Given the description of an element on the screen output the (x, y) to click on. 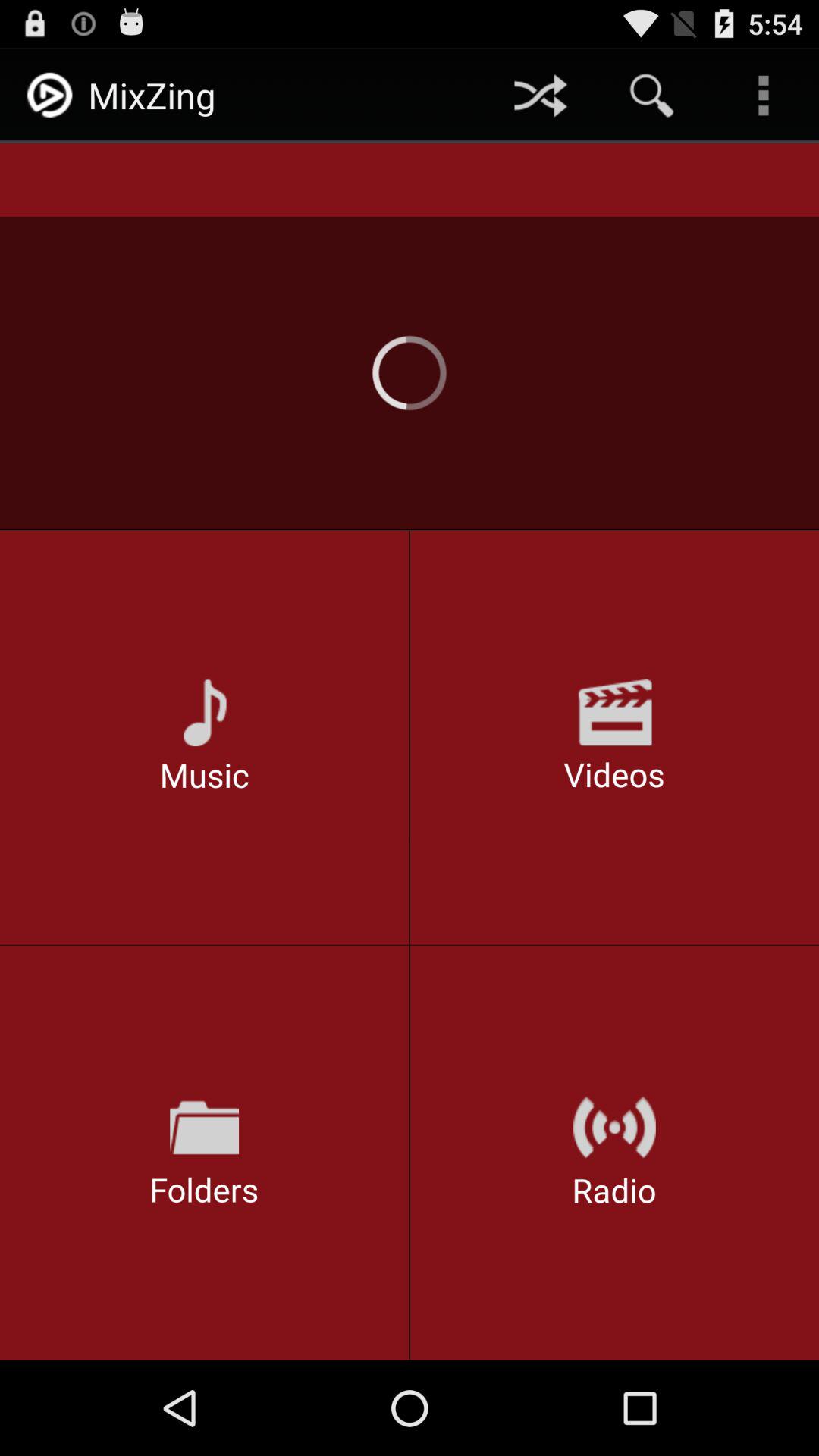
open icon to the right of mixzing icon (540, 95)
